Given the description of an element on the screen output the (x, y) to click on. 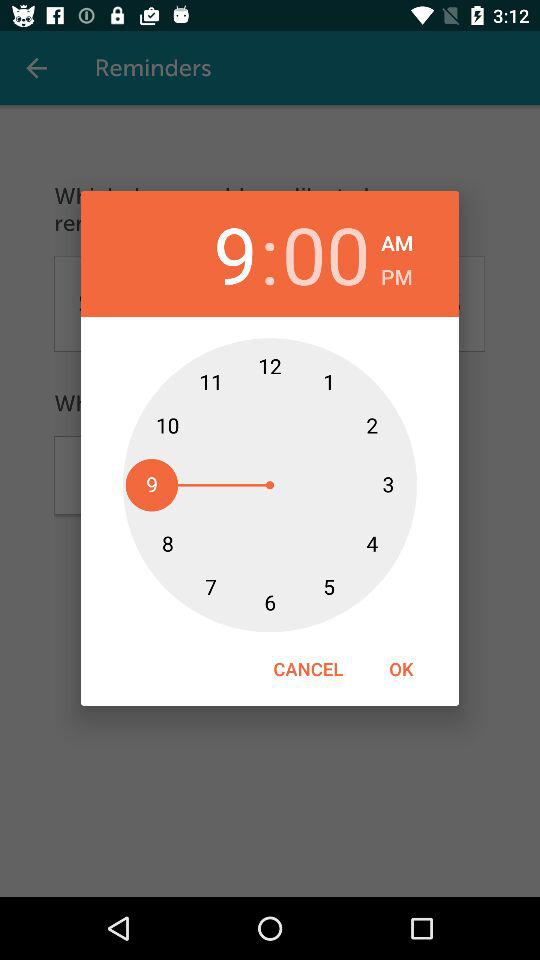
select icon above the pm (397, 240)
